Given the description of an element on the screen output the (x, y) to click on. 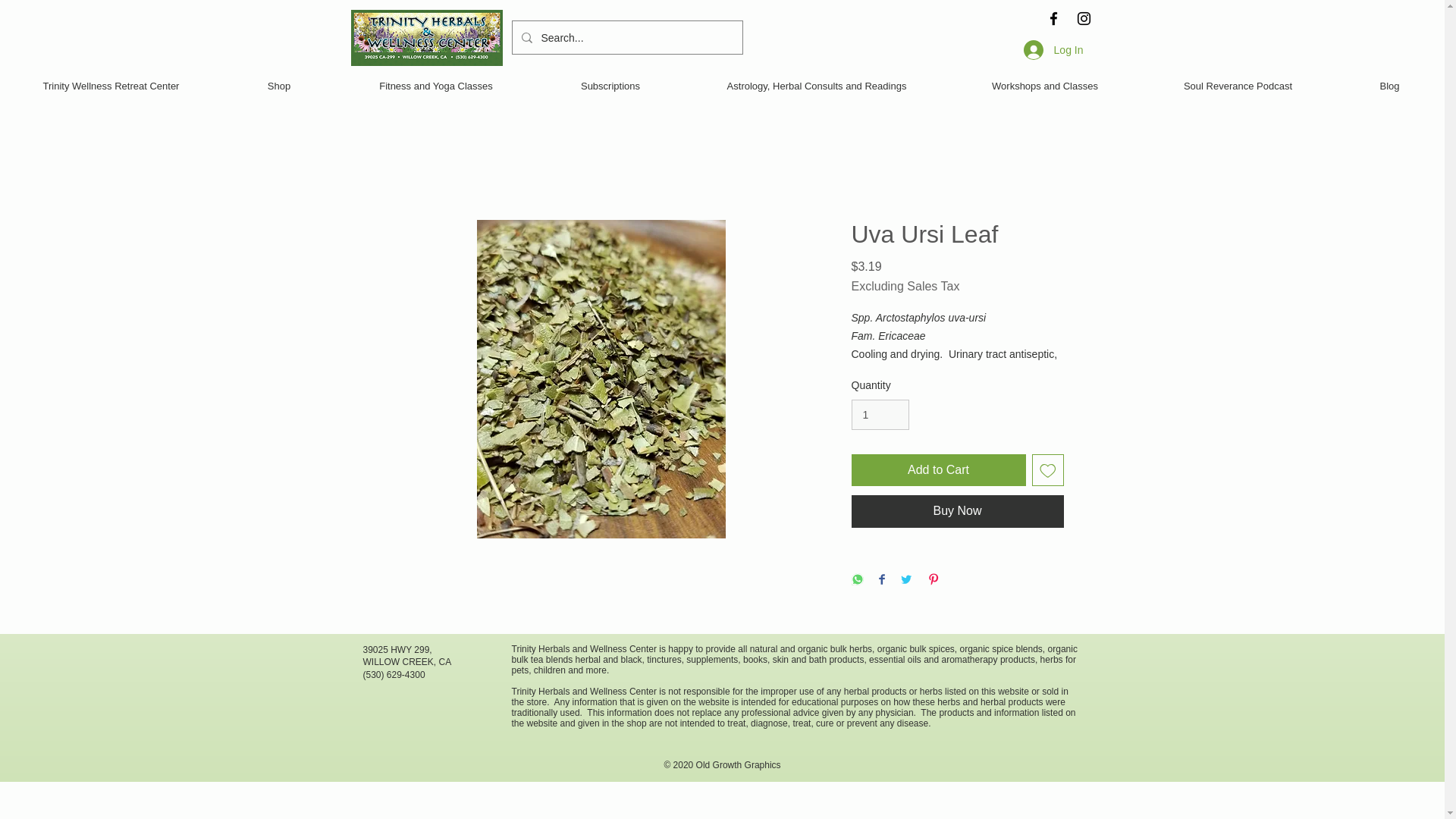
Subscriptions (609, 86)
Trinity Wellness Retreat Center (111, 86)
Log In (1053, 49)
Astrology, Herbal Consults and Readings (816, 86)
Fitness and Yoga Classes (435, 86)
1 (879, 414)
Soul Reverance Podcast (1238, 86)
Workshops and Classes (1045, 86)
Add to Cart (937, 470)
Shop (279, 86)
